Given the description of an element on the screen output the (x, y) to click on. 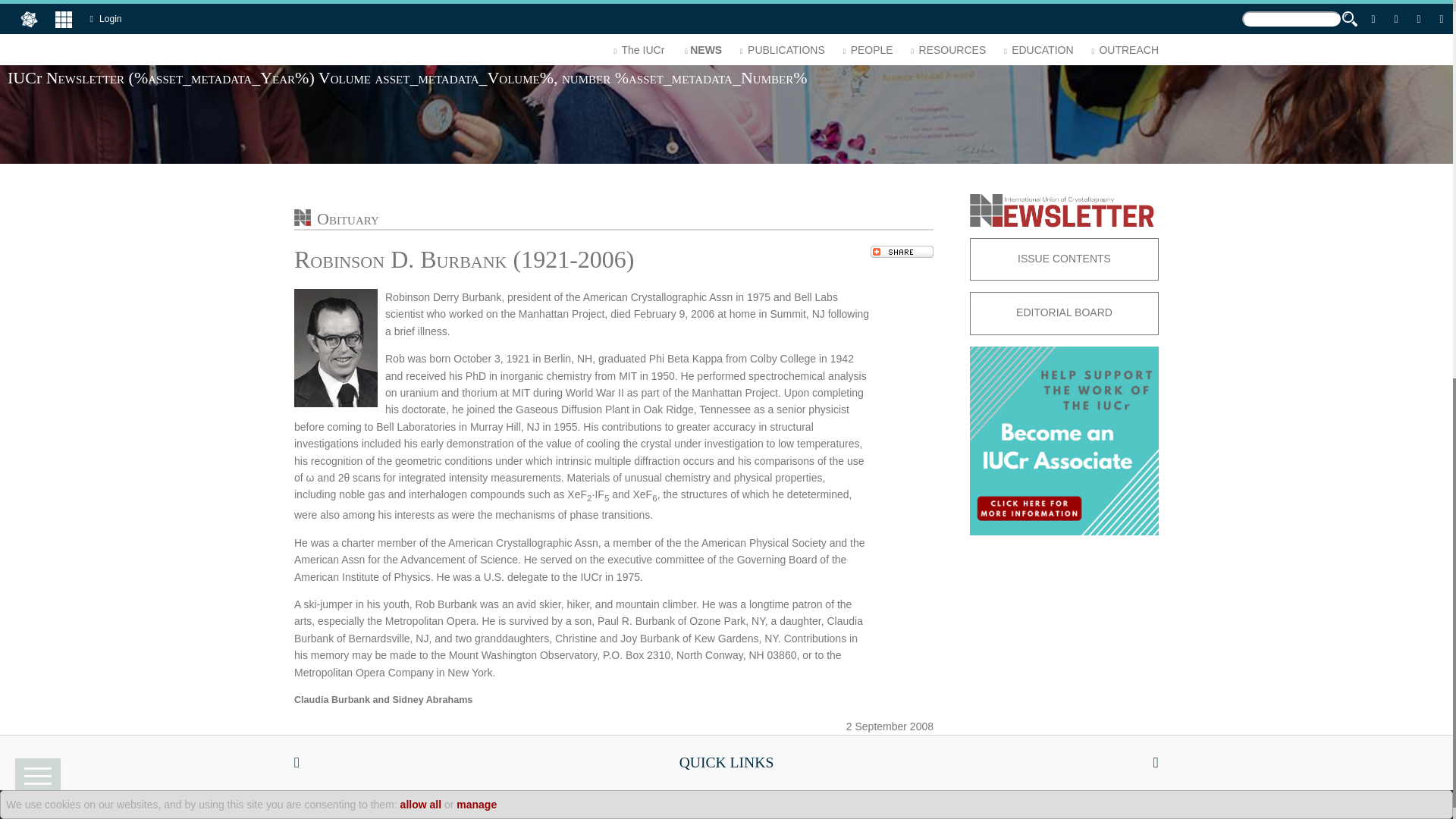
The IUCr (636, 54)
Search (20, 7)
Login (109, 18)
